Given the description of an element on the screen output the (x, y) to click on. 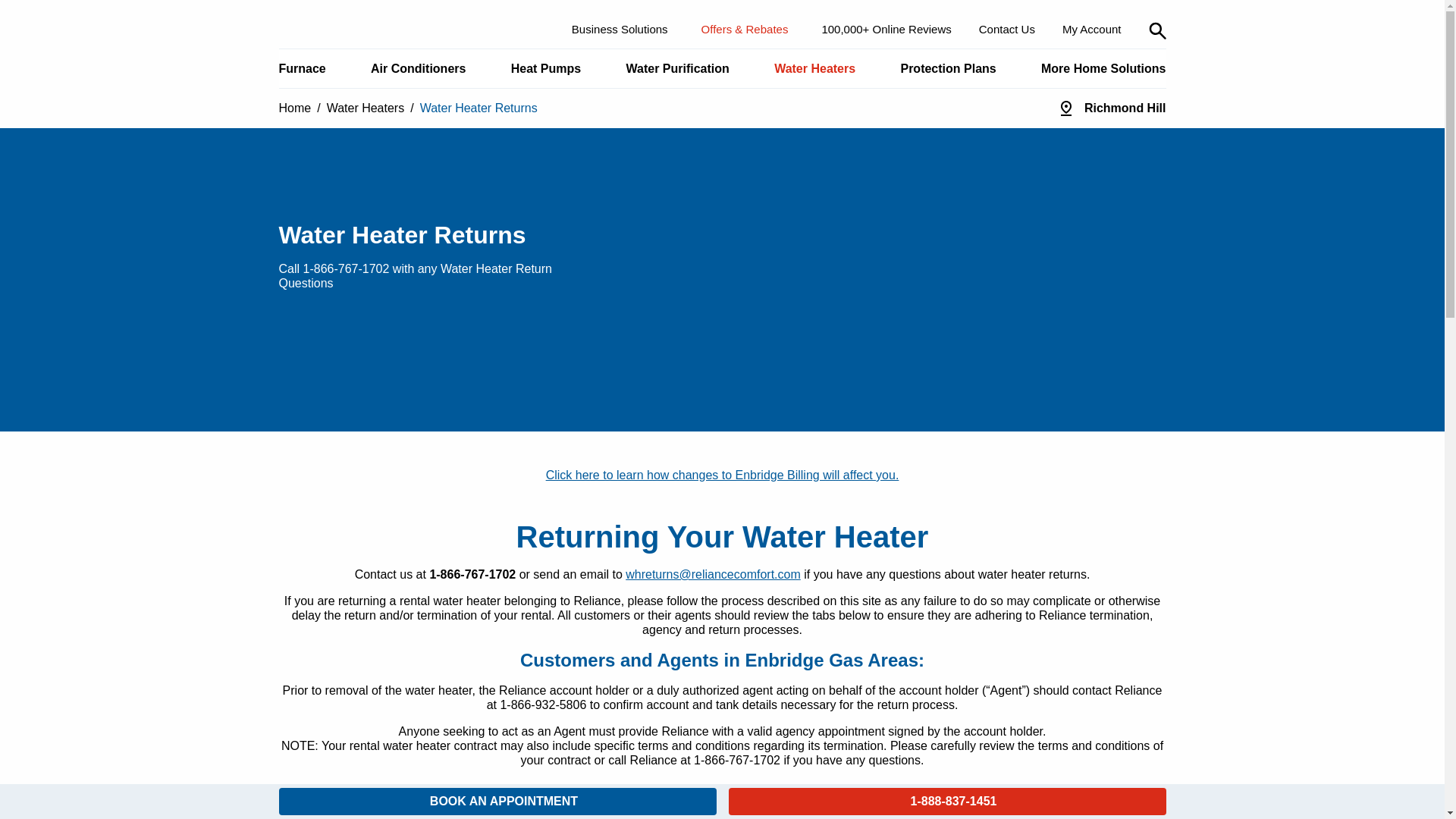
Contact Us (1006, 29)
My Account (1091, 29)
Heat Pumps (545, 68)
Business Solutions (622, 29)
My Account (1091, 29)
Water Purification (677, 68)
Contact Us (1006, 29)
Furnace (301, 68)
Air Conditioners (417, 68)
